Given the description of an element on the screen output the (x, y) to click on. 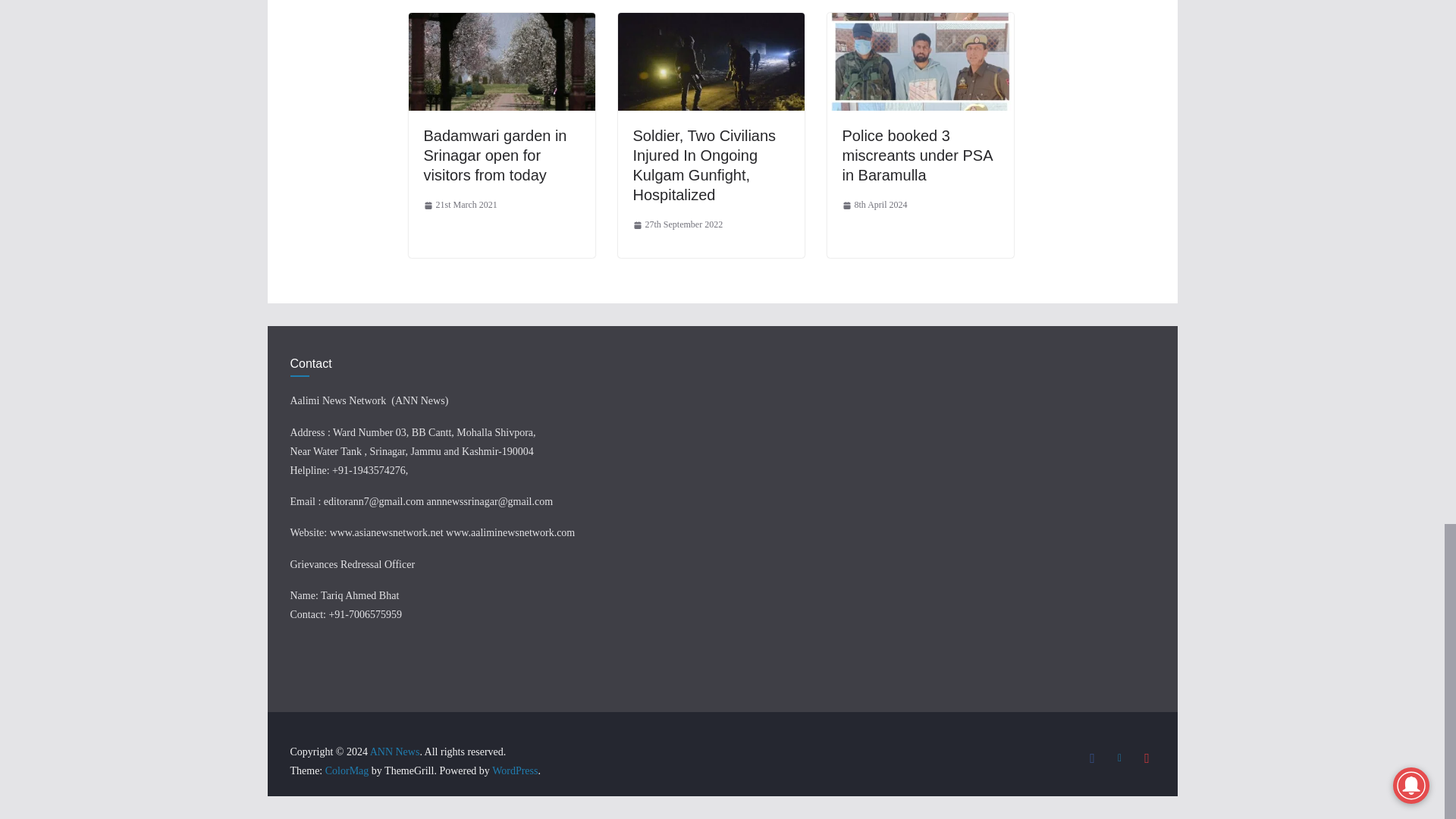
21st March 2021 (459, 205)
Badamwari garden in Srinagar open for visitors from today (500, 22)
Badamwari garden in Srinagar open for visitors from today (494, 155)
